Given the description of an element on the screen output the (x, y) to click on. 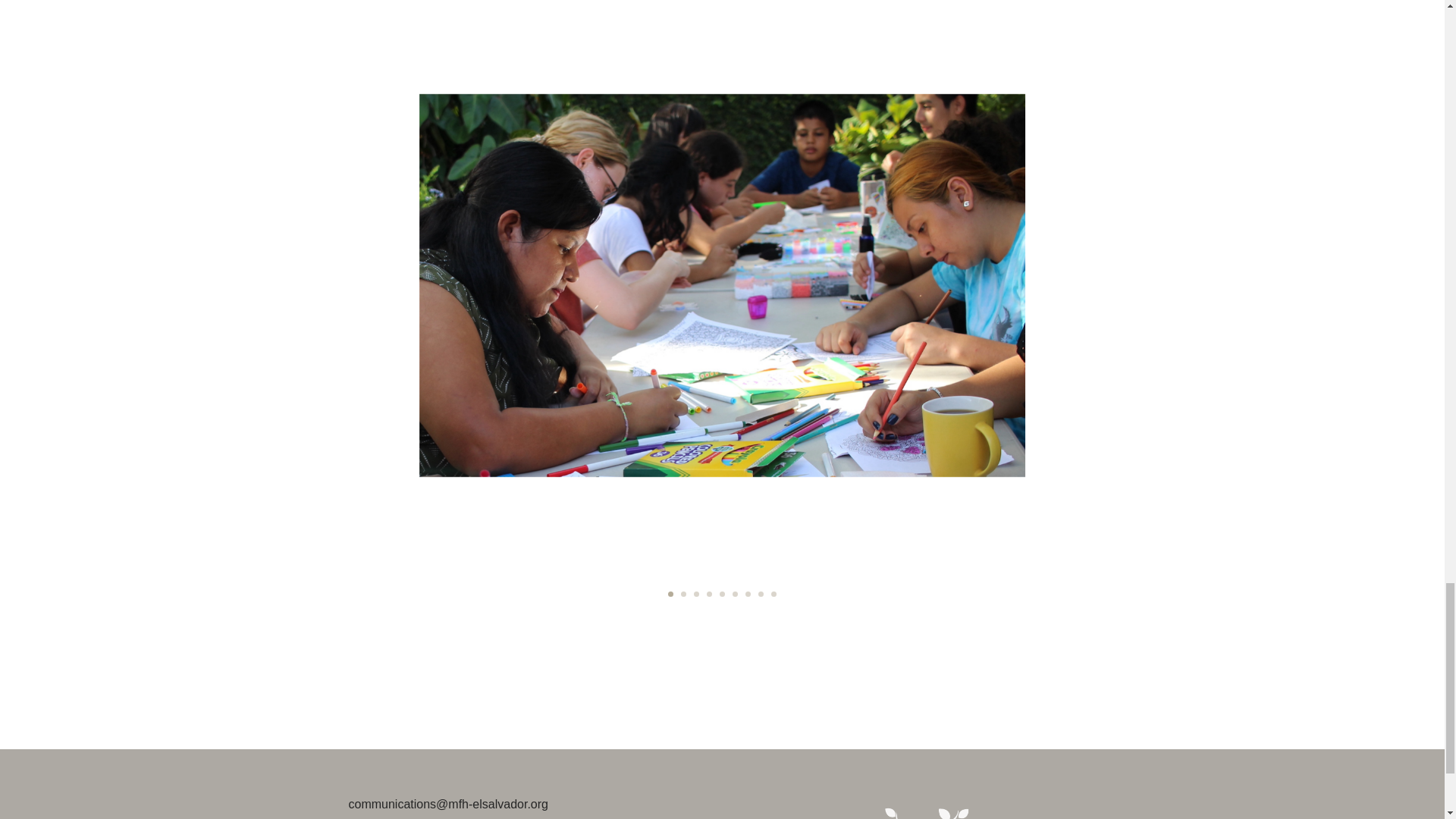
4 (708, 594)
7 (748, 594)
6 (735, 594)
5 (722, 594)
